Given the description of an element on the screen output the (x, y) to click on. 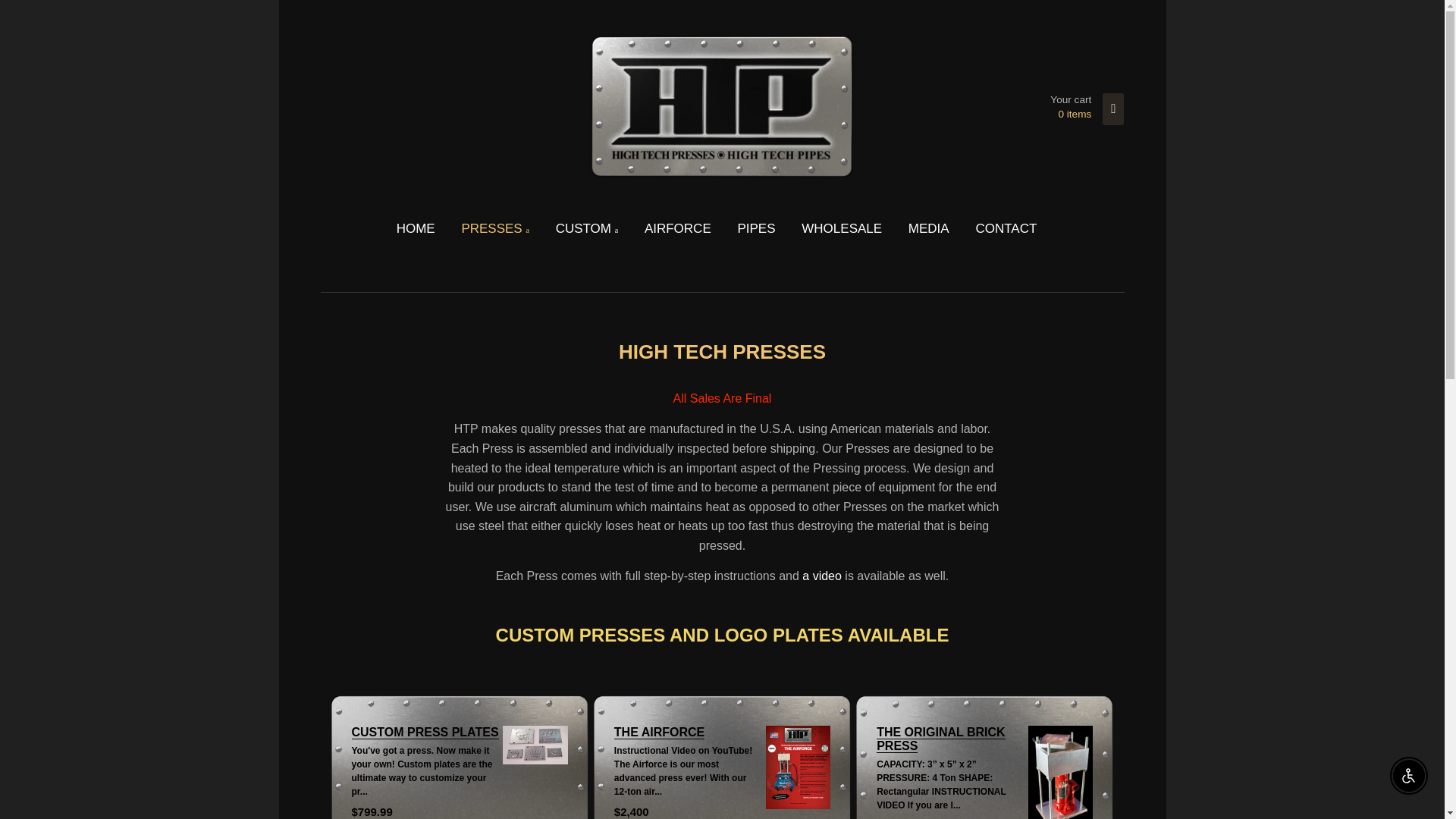
AIRFORCE (677, 228)
CONTACT (1005, 228)
a video (821, 575)
PRESSES (494, 228)
WHOLESALE (841, 228)
CUSTOM (587, 228)
MEDIA (1086, 109)
PIPES (928, 228)
HOME (755, 228)
Enable accessibility (421, 228)
